Given the description of an element on the screen output the (x, y) to click on. 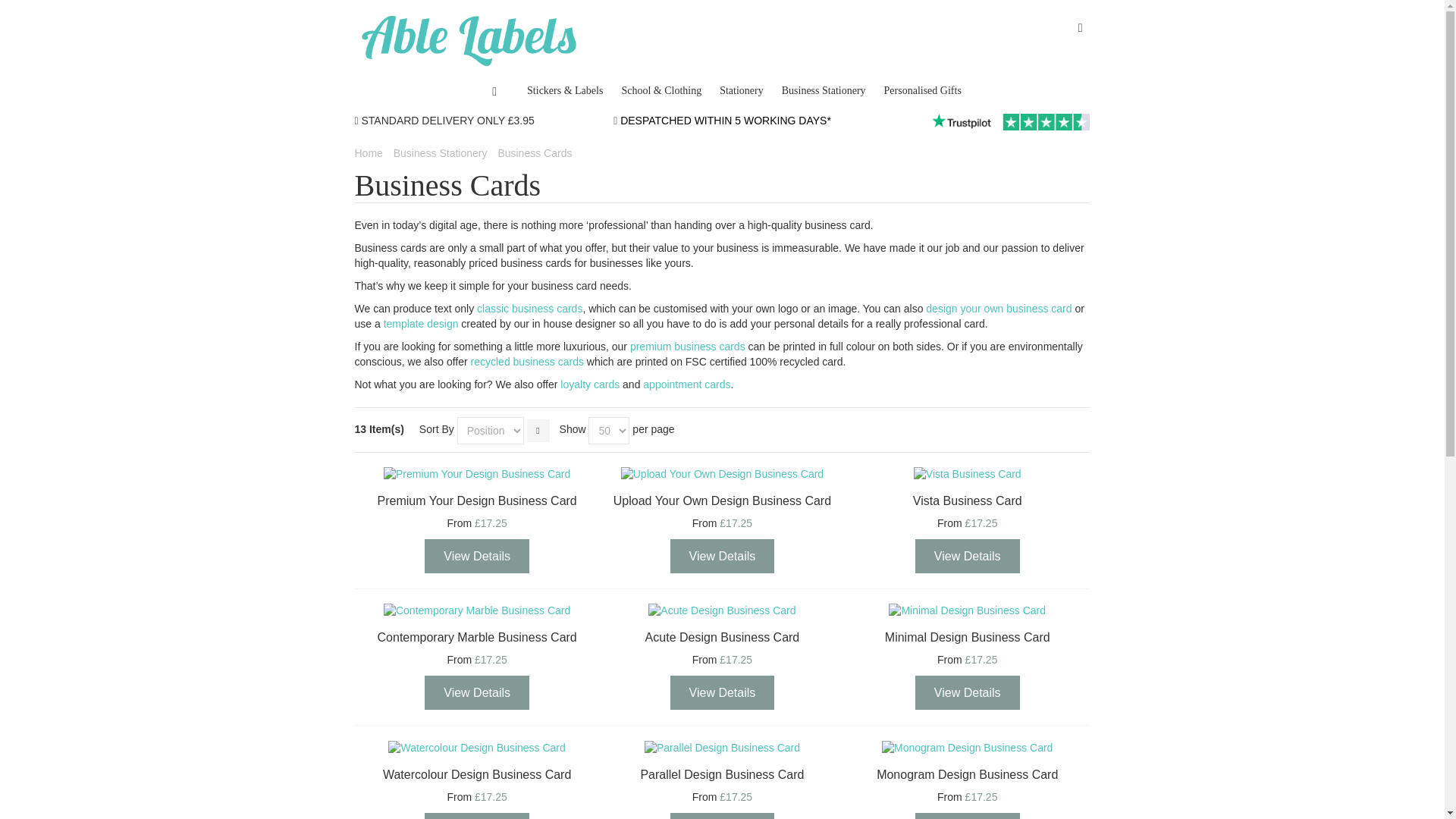
Vista Business Card (967, 500)
Upload Your Own Design Business Card (722, 474)
View Details (721, 555)
Vista Business Card (967, 474)
You have no items to compare. (1079, 26)
View Details (967, 555)
Go to Home Page (368, 153)
Upload Your Own Design Business Card (721, 500)
Contemporary Marble Business Card (476, 636)
Premium Your Design Business Card (477, 474)
Contemporary Marble Business Card (477, 611)
Set Descending Direction (538, 429)
Premium Your Design Business Card (476, 500)
View Details (477, 555)
